Given the description of an element on the screen output the (x, y) to click on. 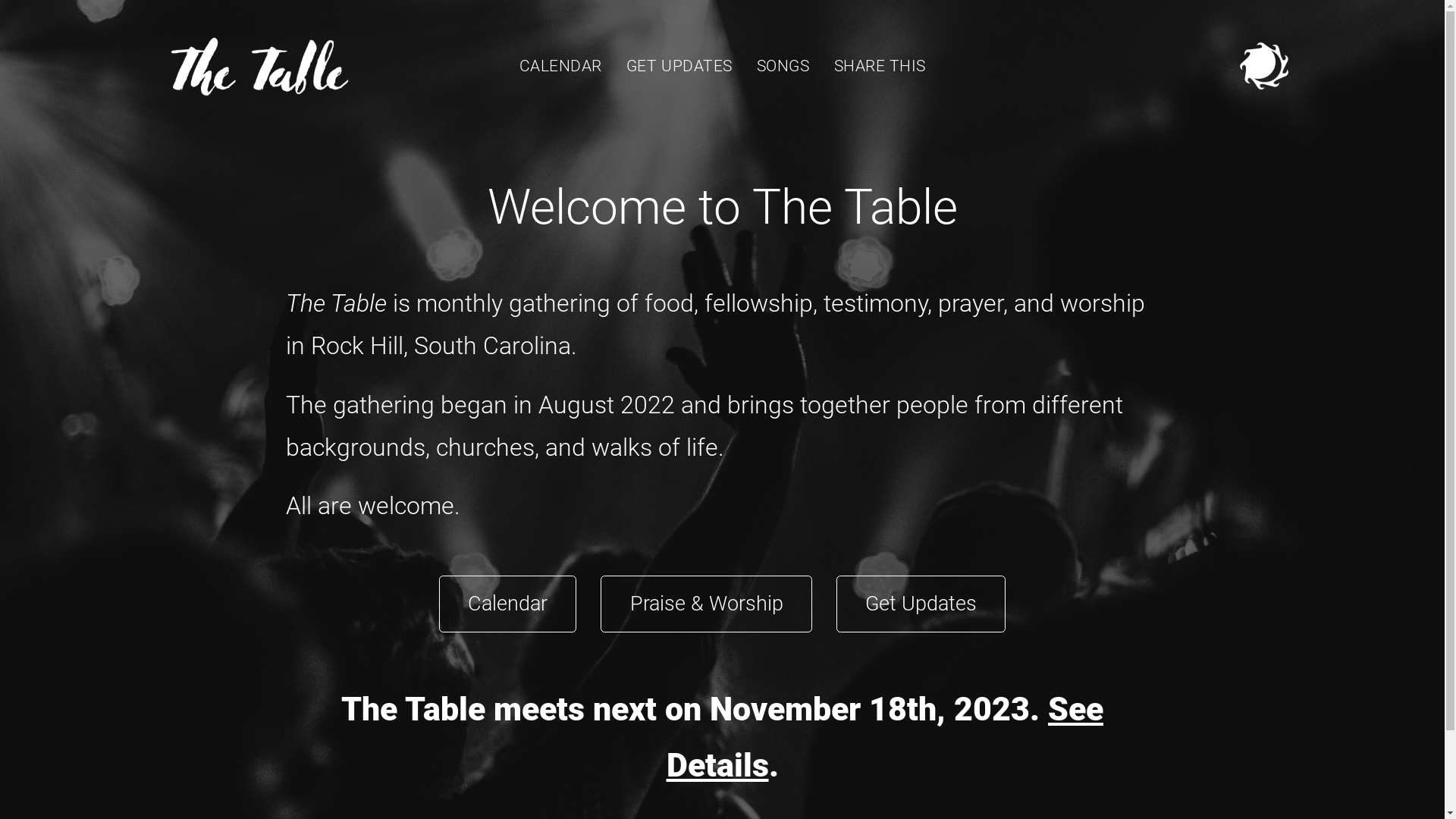
SONGS Element type: text (782, 65)
GET UPDATES Element type: text (679, 65)
CALENDAR Element type: text (560, 65)
Get Updates Element type: text (921, 603)
SHARE THIS Element type: text (879, 65)
Calendar Element type: text (508, 603)
See Details Element type: text (884, 737)
Praise & Worship Element type: text (706, 603)
